Given the description of an element on the screen output the (x, y) to click on. 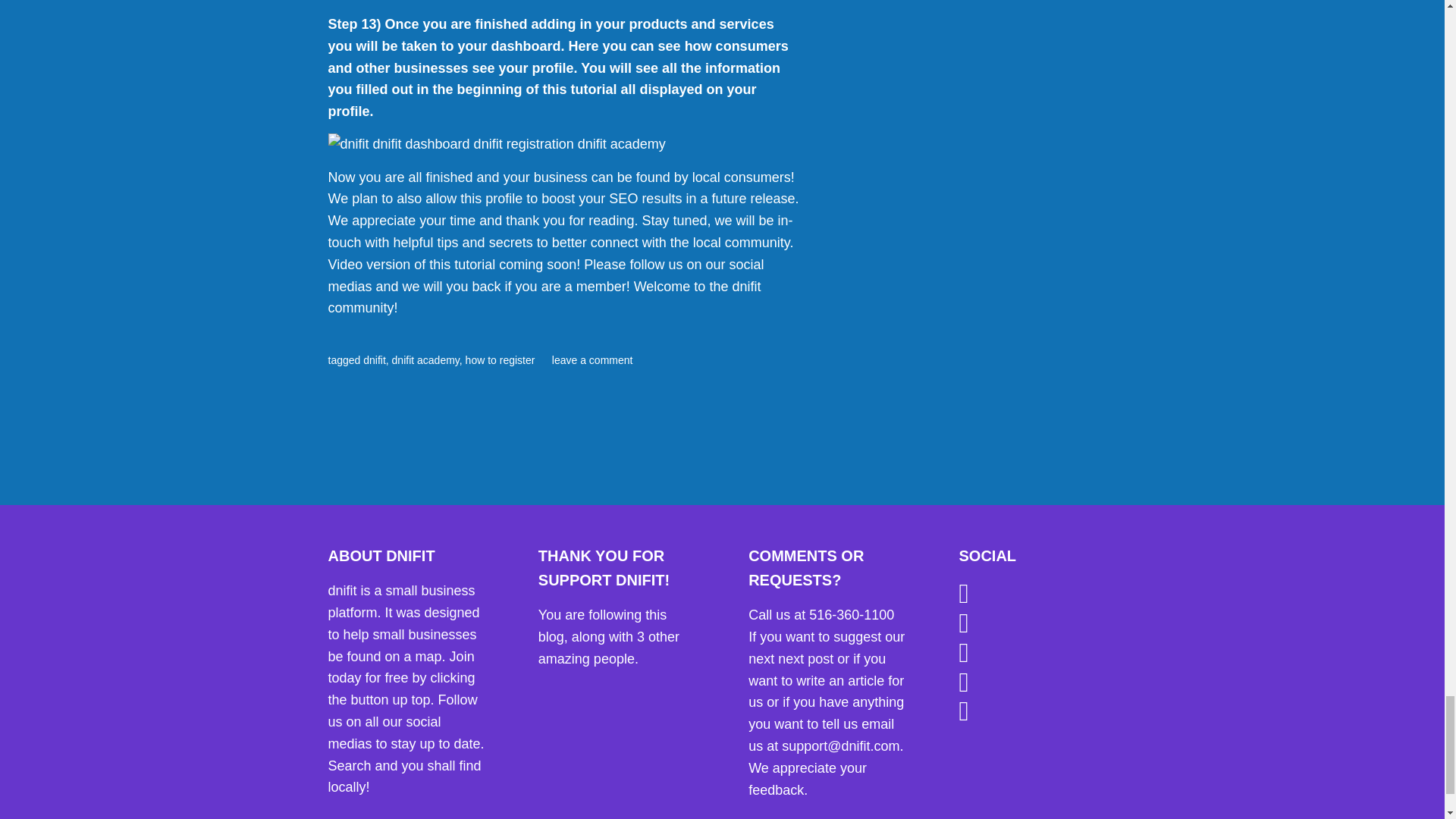
dnifit academy (425, 359)
leave a comment (592, 359)
dnifit (373, 359)
how to register (500, 359)
